Given the description of an element on the screen output the (x, y) to click on. 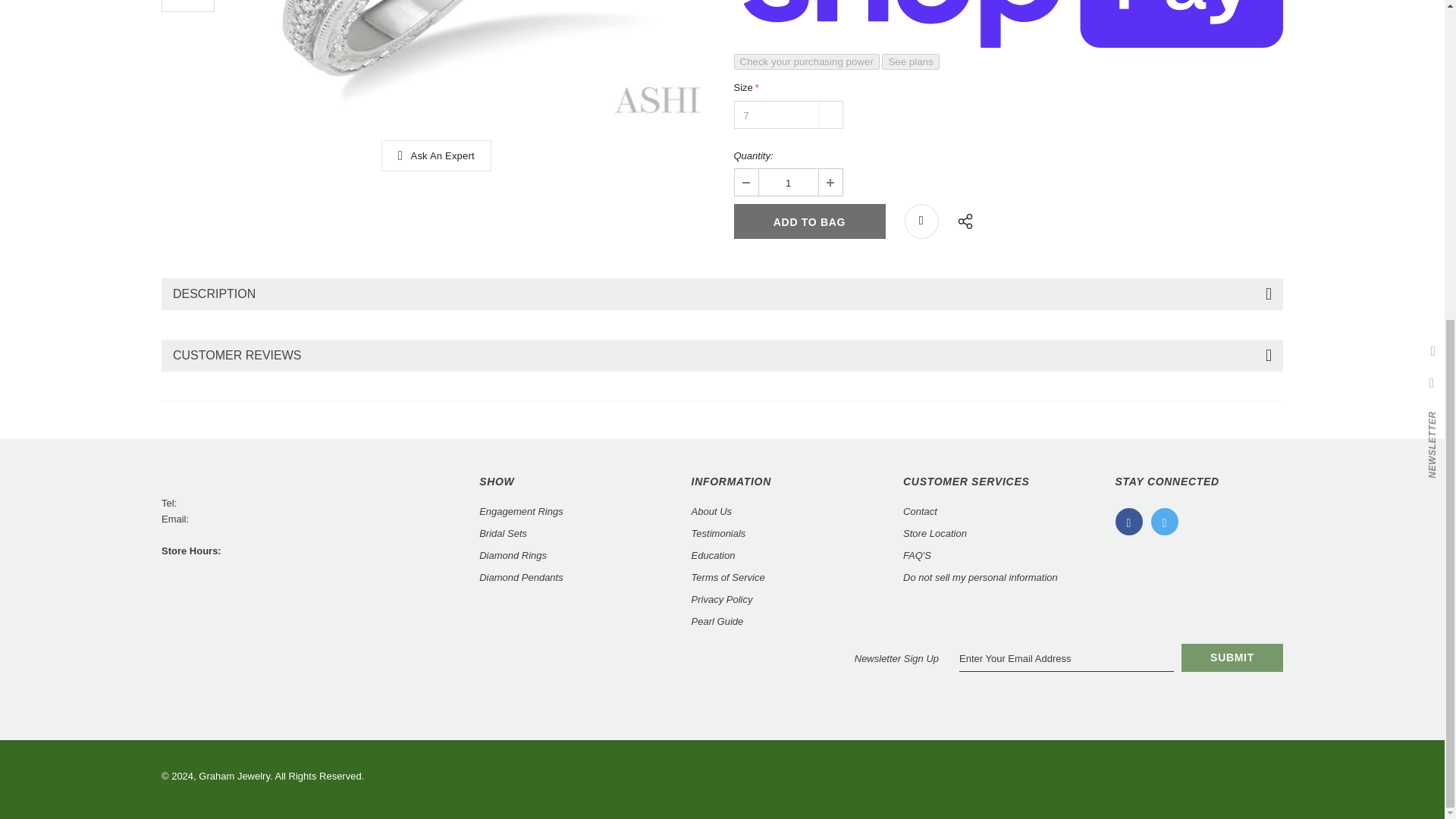
1 (787, 181)
Add to Bag (809, 221)
Submit (1231, 657)
